Given the description of an element on the screen output the (x, y) to click on. 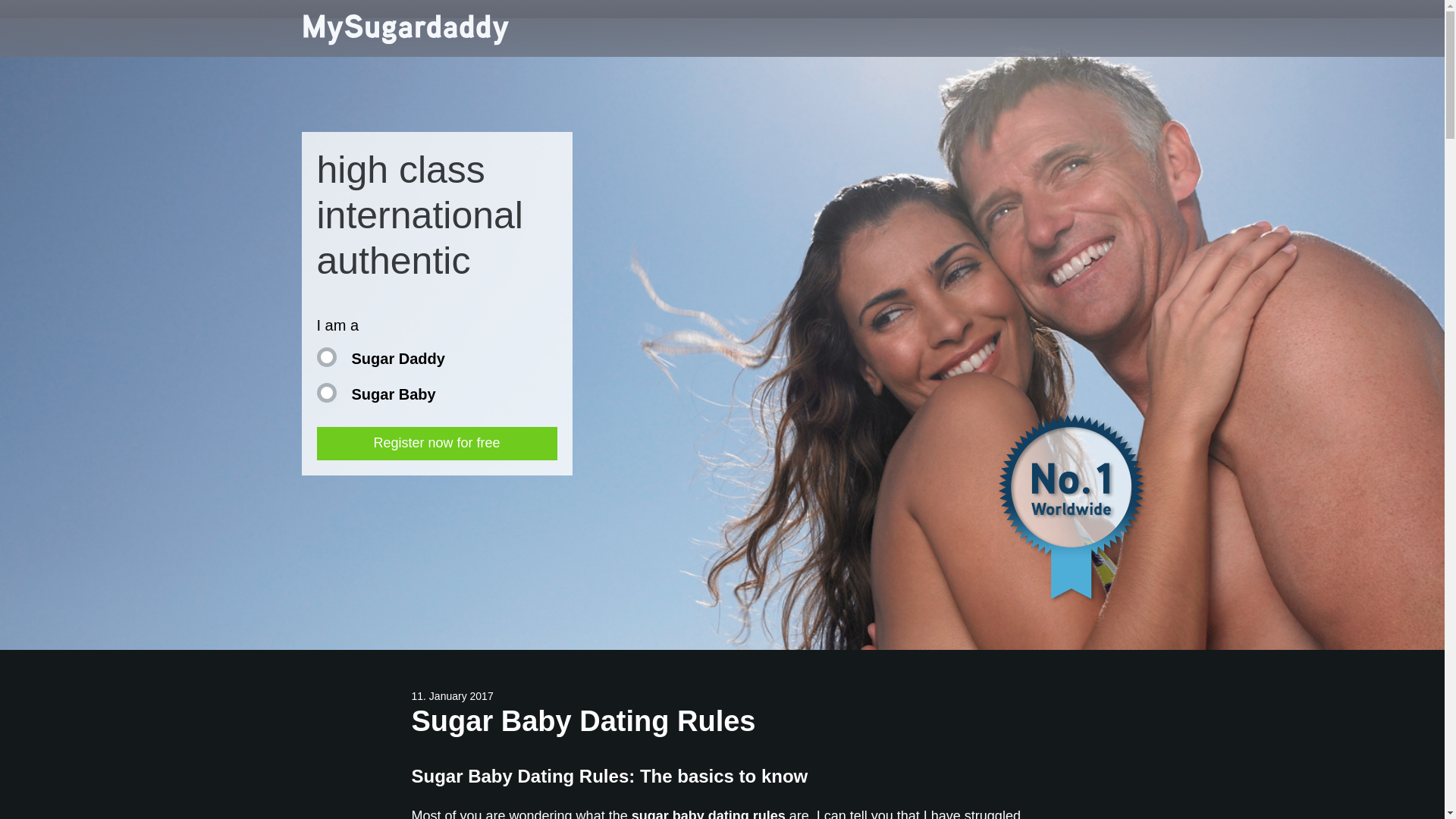
Register now for free (437, 443)
blog.my-sugar-daddy.com (406, 29)
Sugar Baby Dating Rules: The basics to know (721, 776)
Register now for free (437, 443)
sugarbabe (326, 392)
sugardaddy (326, 356)
